Given the description of an element on the screen output the (x, y) to click on. 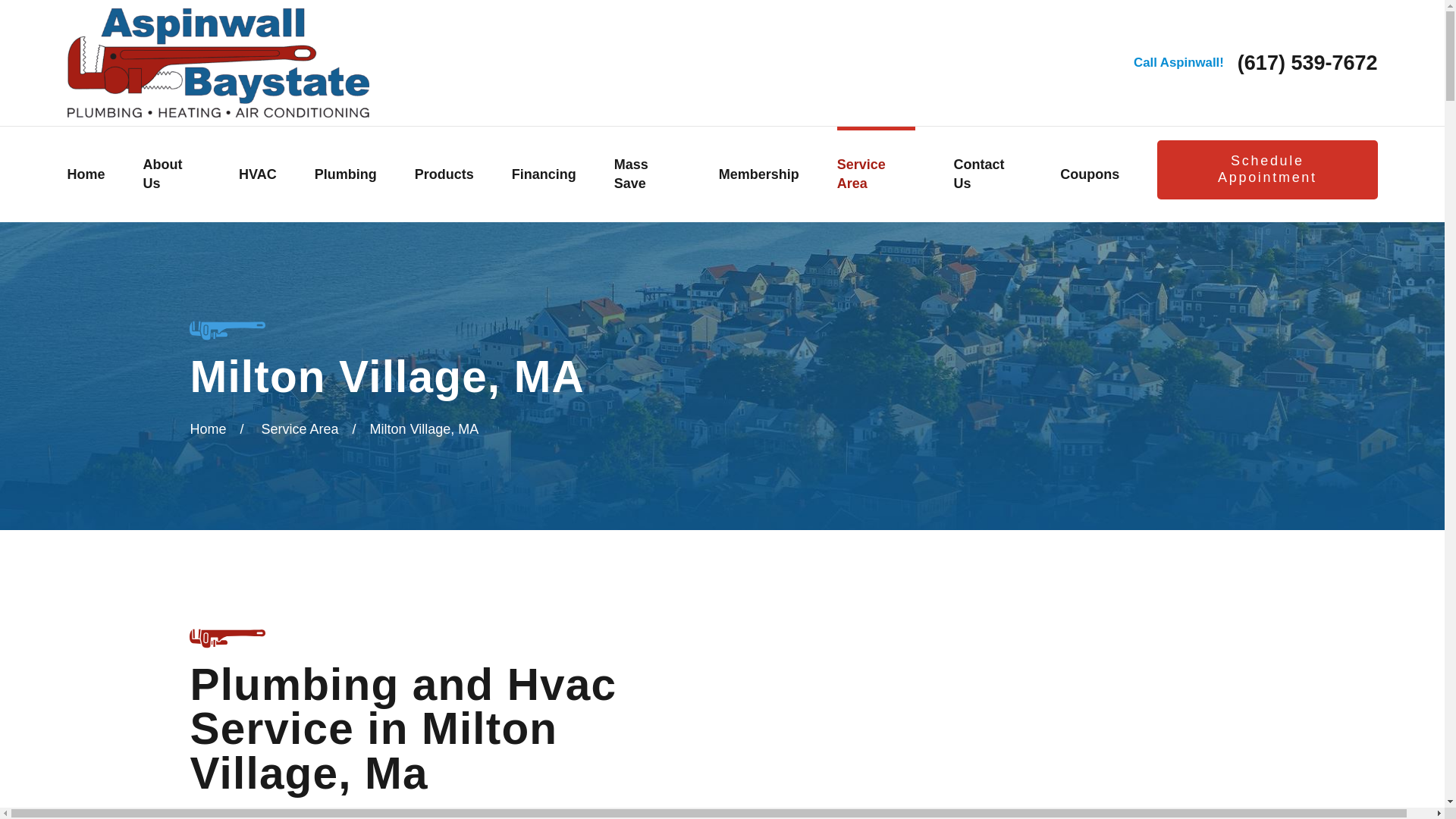
Home (85, 173)
About Us (172, 173)
HVAC (257, 173)
Plumbing (345, 173)
Go Home (207, 428)
Home (217, 62)
Products (444, 173)
